Given the description of an element on the screen output the (x, y) to click on. 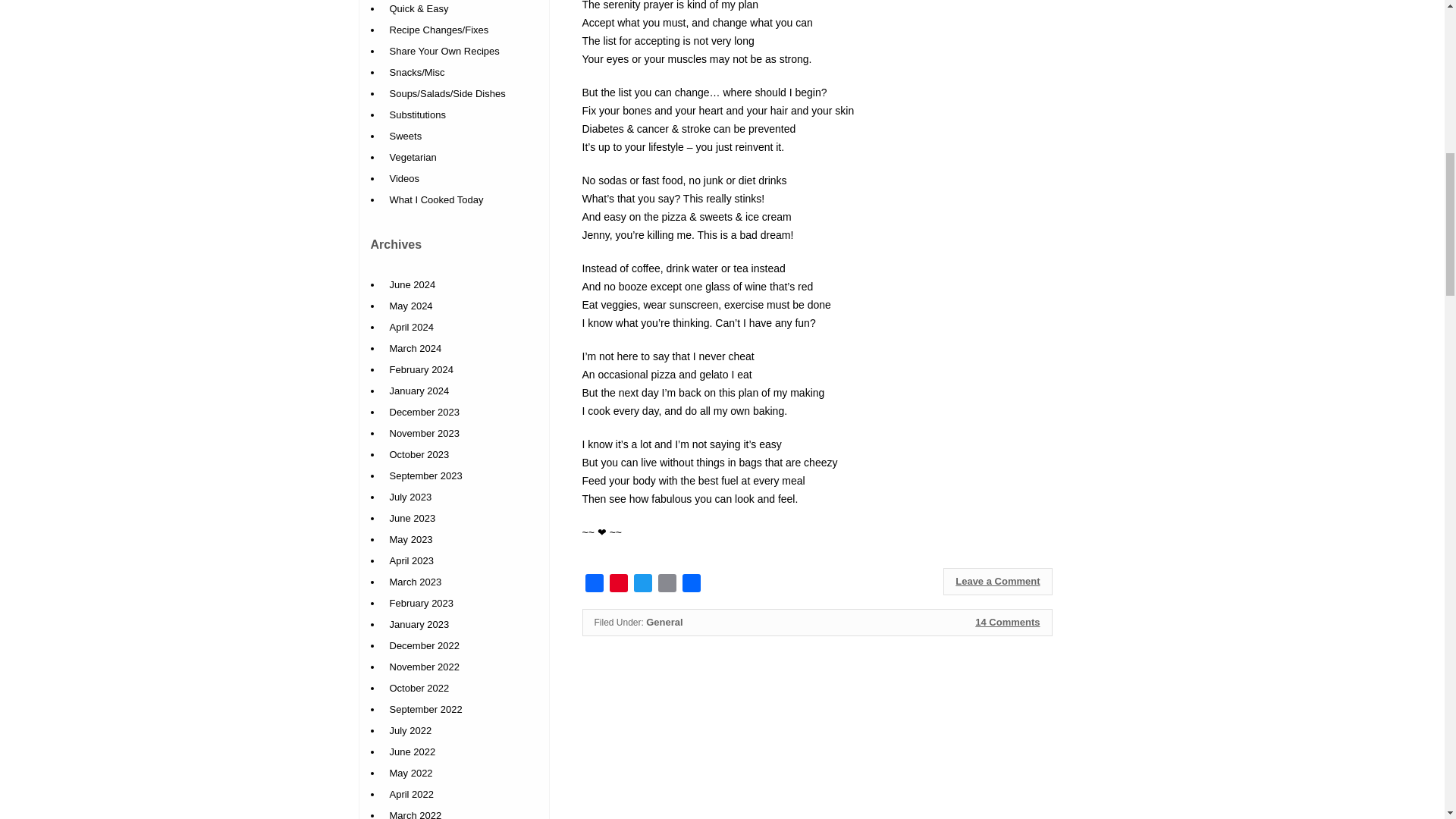
Facebook (594, 585)
Email (667, 585)
14 Comments (1007, 622)
Leave a Comment (997, 581)
Twitter (642, 585)
Email (667, 585)
General (664, 622)
Twitter (642, 585)
Pinterest (618, 585)
Share (691, 585)
Facebook (594, 585)
Pinterest (618, 585)
